Given the description of an element on the screen output the (x, y) to click on. 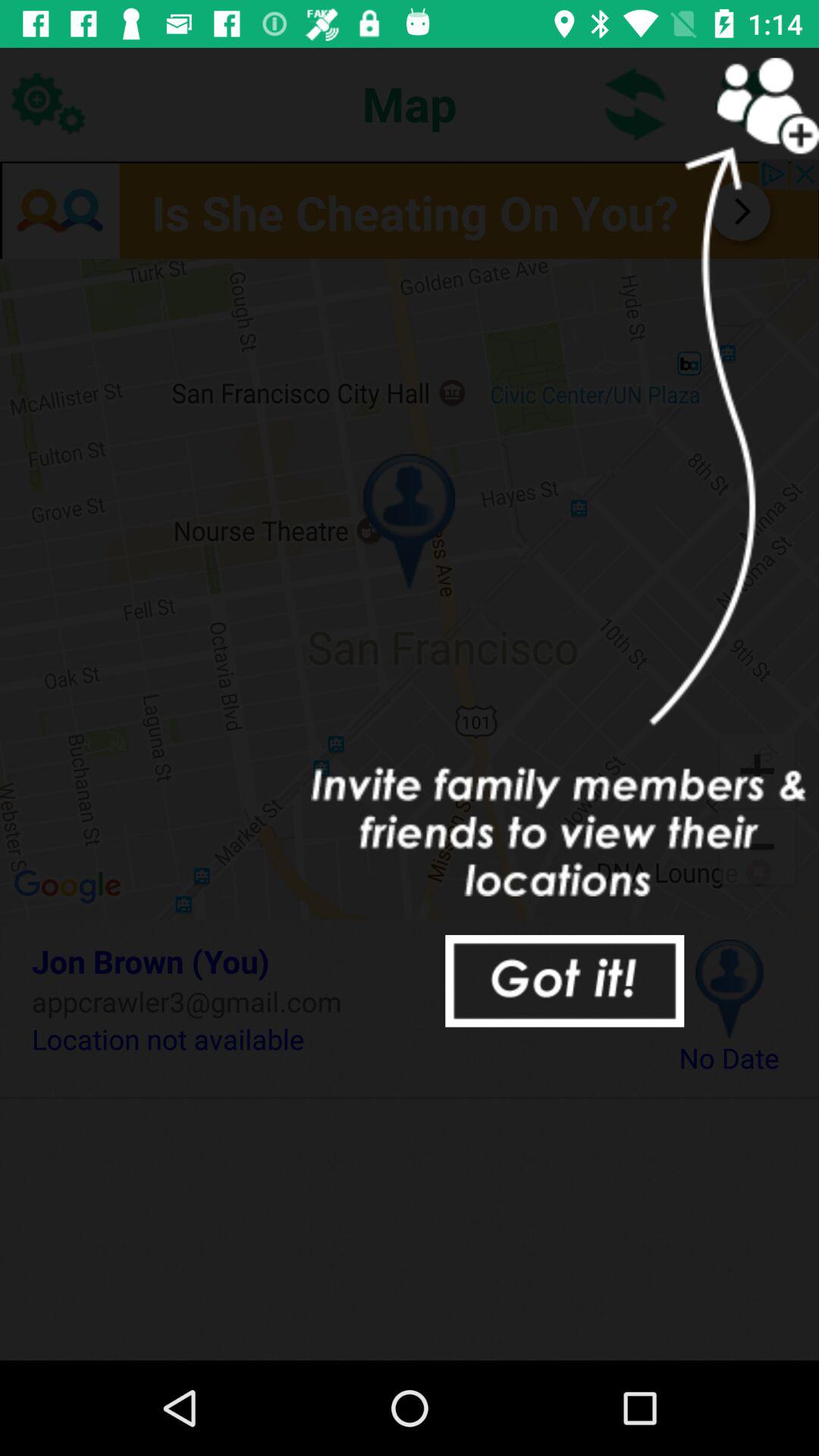
choose location not available item (332, 1038)
